Given the description of an element on the screen output the (x, y) to click on. 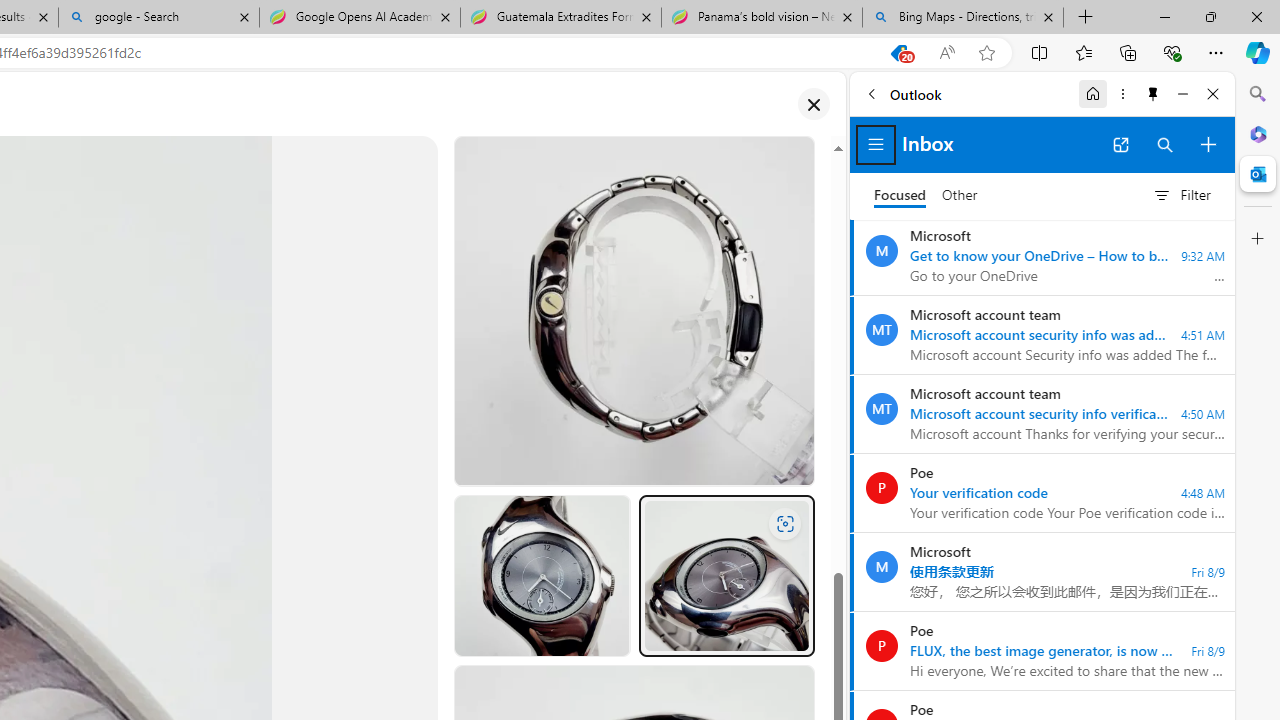
Copilot (Ctrl+Shift+.) (1258, 52)
Close tab (1048, 16)
Favorites (1083, 52)
Compose new mail (1208, 144)
Customize (1258, 239)
Search (1258, 94)
Restore (1210, 16)
Microsoft 365 (1258, 133)
Folder navigation (876, 144)
